Given the description of an element on the screen output the (x, y) to click on. 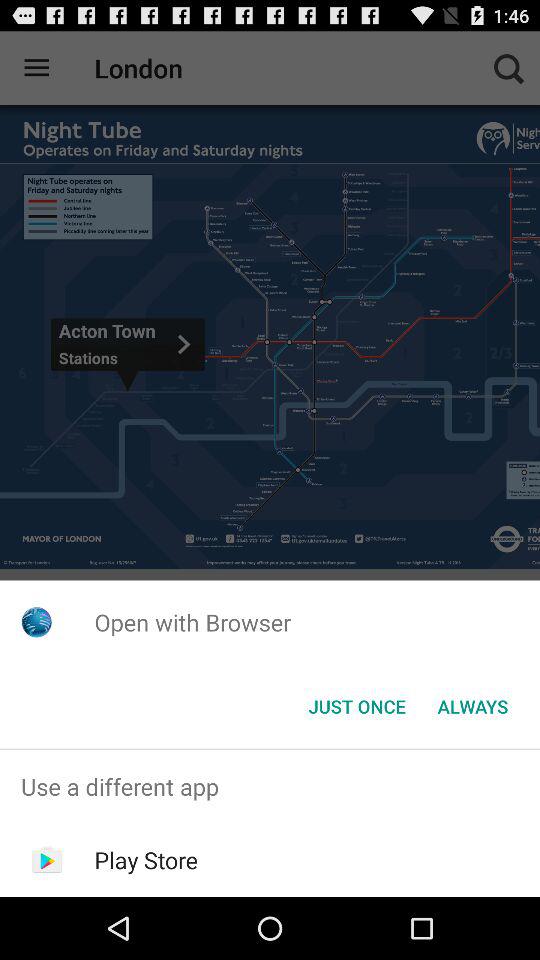
launch the play store app (146, 860)
